Given the description of an element on the screen output the (x, y) to click on. 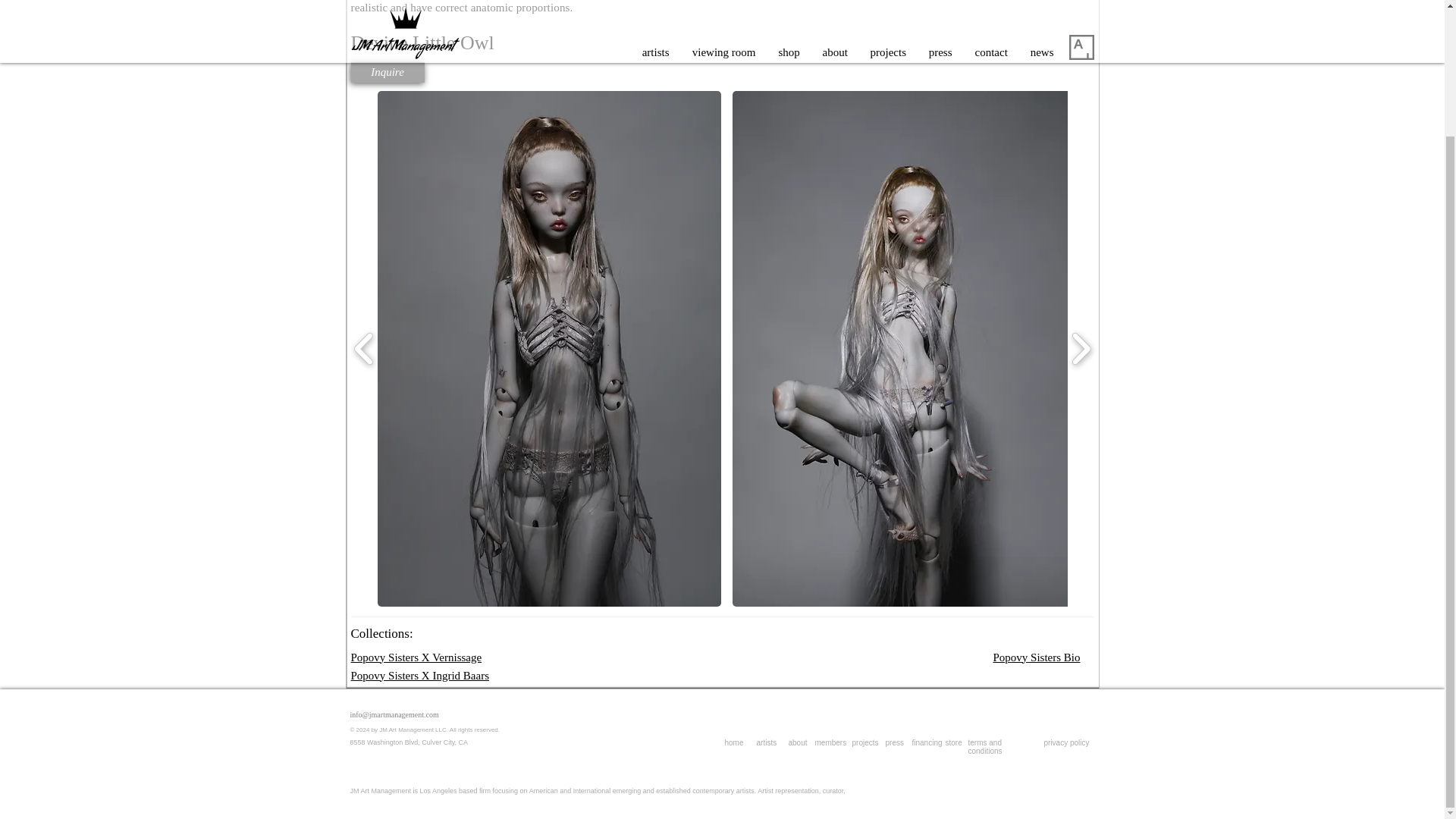
Popovy Sisters Bio (1036, 656)
Popovy Sisters X Vernissage (415, 656)
projects (865, 742)
financing (926, 742)
press (894, 742)
Inquire (386, 72)
artists (767, 742)
Popovy Sisters X Ingrid Baars (419, 674)
about (798, 742)
home (734, 742)
